Given the description of an element on the screen output the (x, y) to click on. 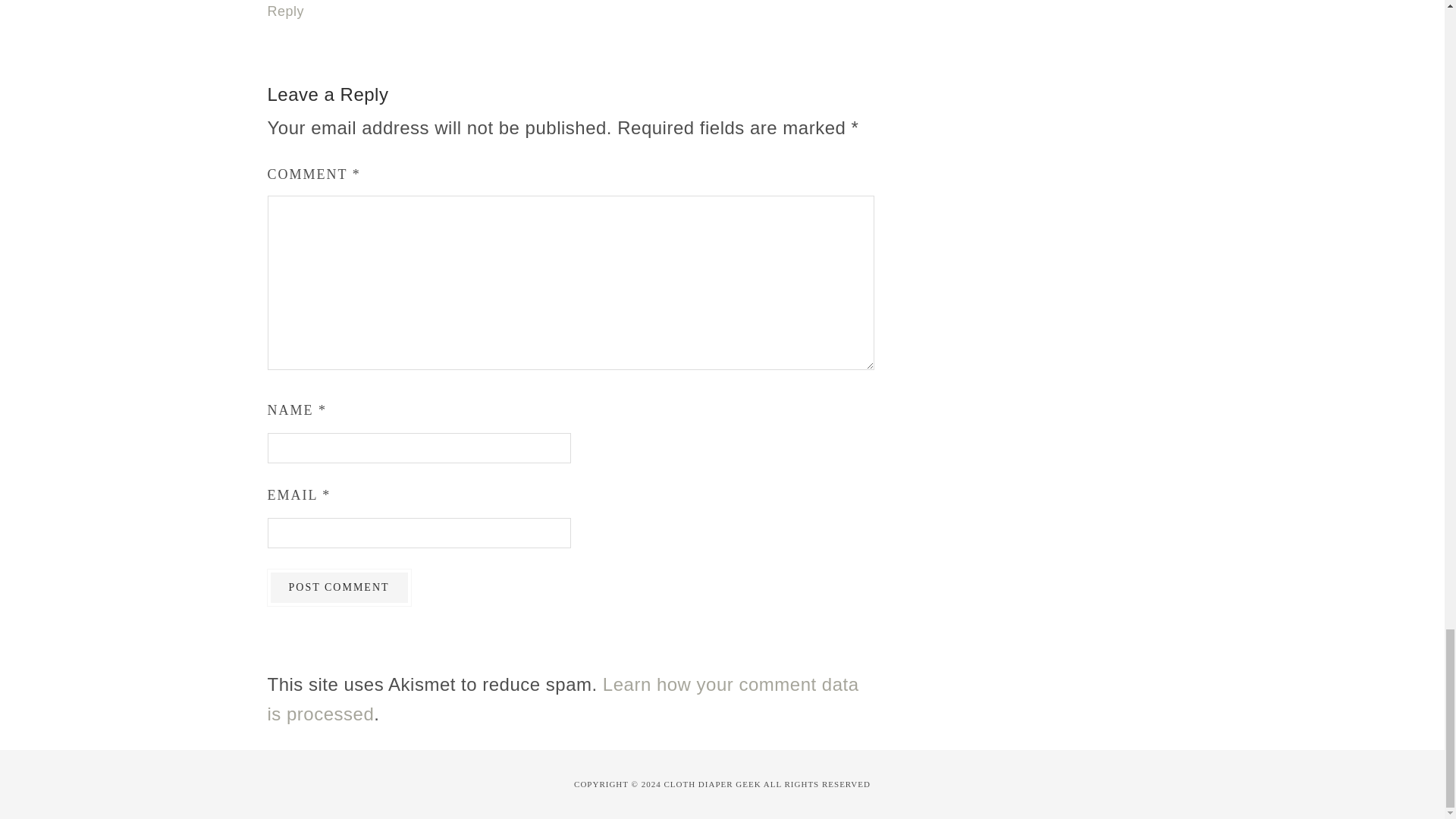
Post Comment (338, 587)
Learn how your comment data is processed (562, 698)
Post Comment (338, 587)
Reply (285, 11)
